Given the description of an element on the screen output the (x, y) to click on. 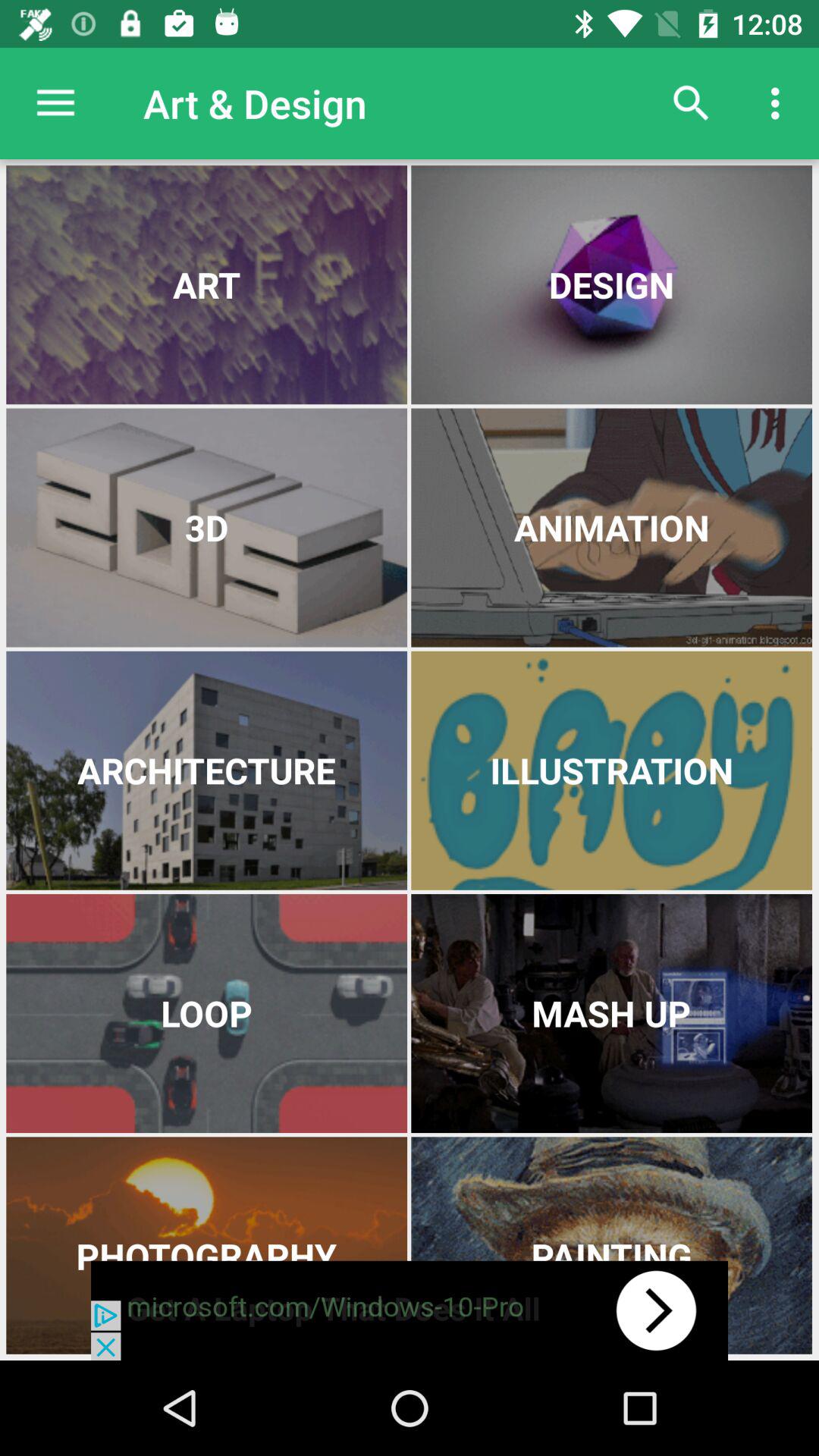
advertisement (409, 1310)
